Given the description of an element on the screen output the (x, y) to click on. 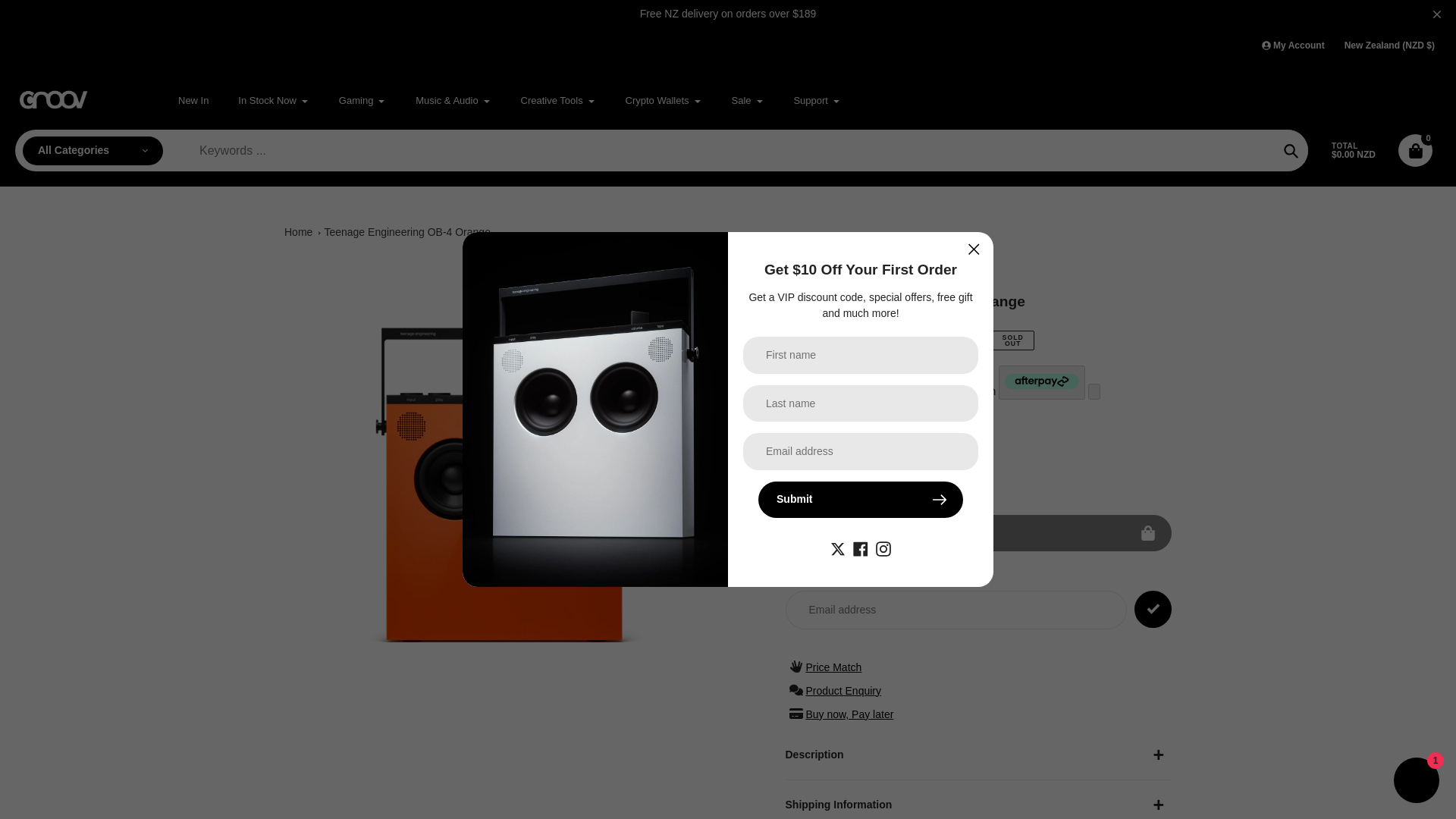
Instagram (883, 548)
My Account (1292, 45)
Shopify online store chat (1416, 781)
1 (926, 436)
Twitter (837, 548)
Facebook (860, 548)
Teenage Engineering (828, 279)
